Given the description of an element on the screen output the (x, y) to click on. 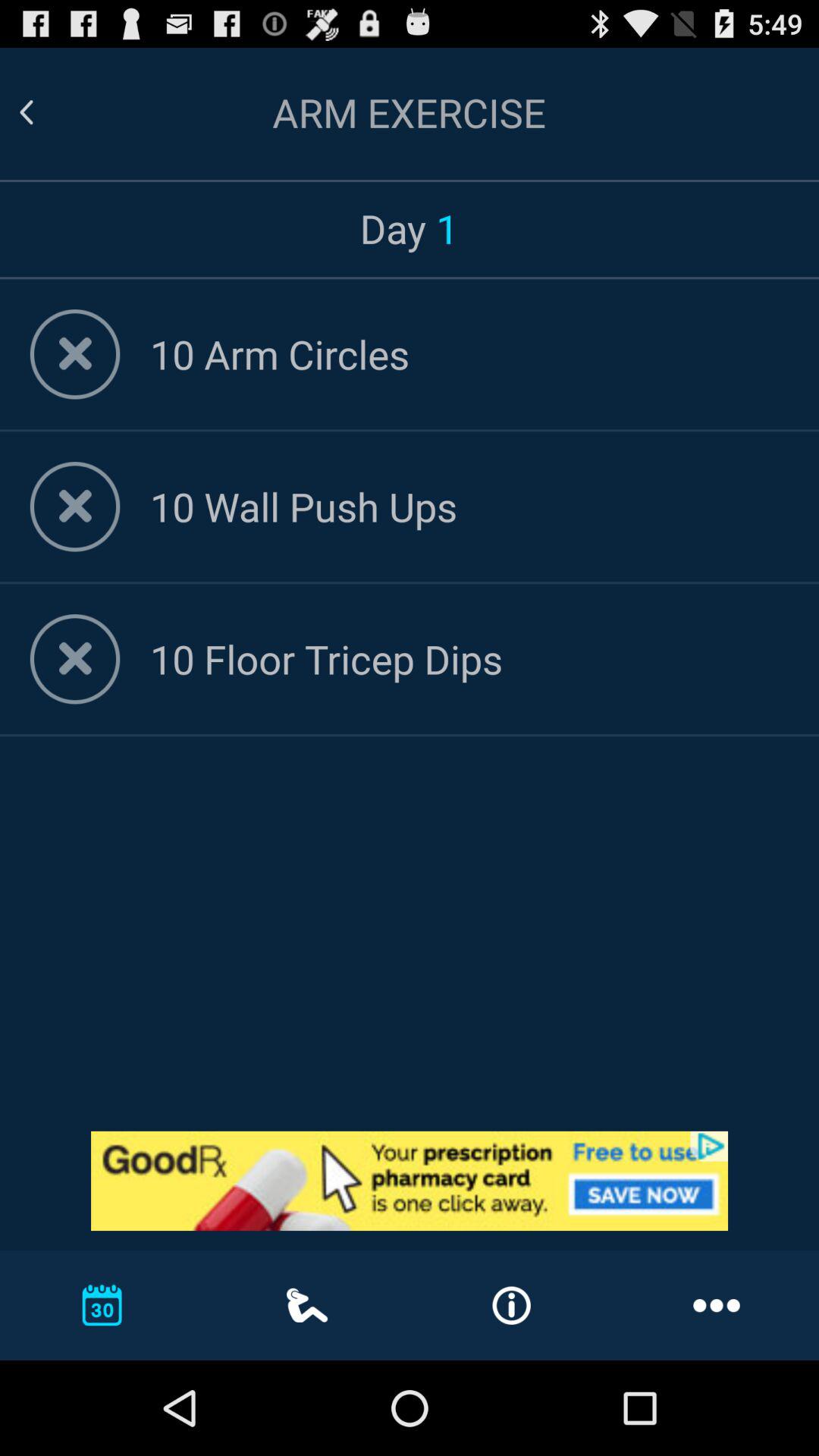
options (75, 506)
